Given the description of an element on the screen output the (x, y) to click on. 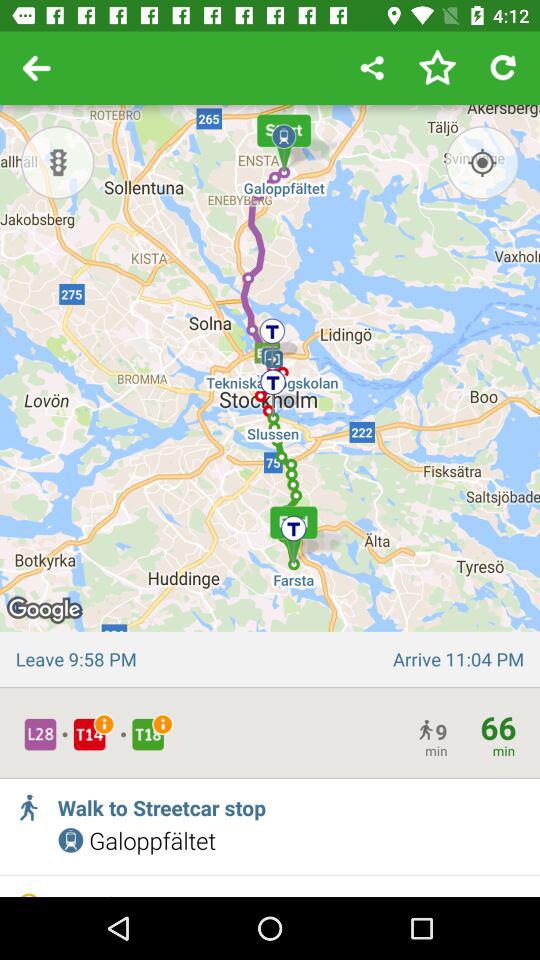
traffic lights (57, 162)
